Given the description of an element on the screen output the (x, y) to click on. 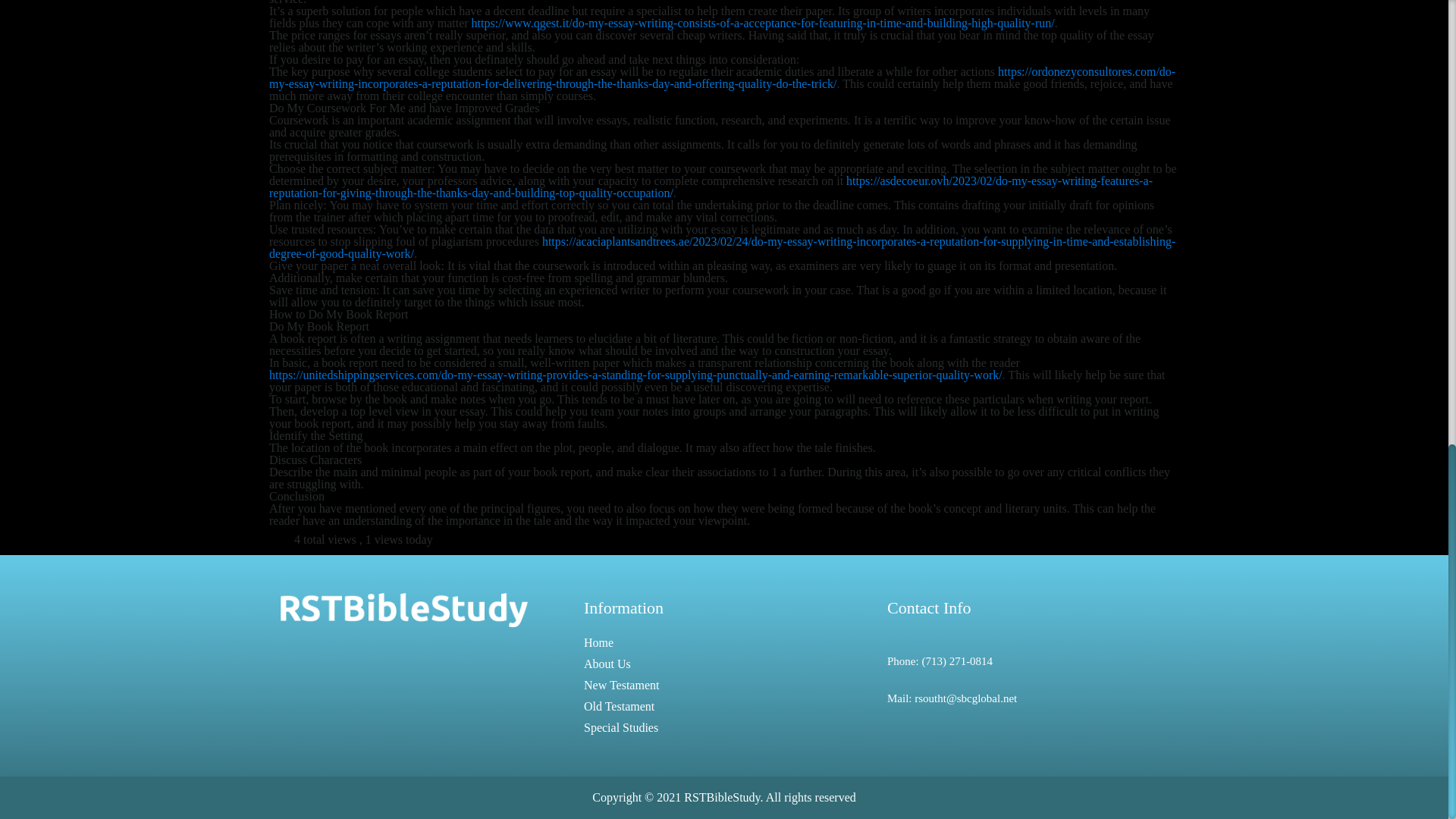
Home (597, 642)
New Testament (621, 684)
Special Studies (620, 727)
Old Testament (618, 706)
About Us (606, 663)
